Given the description of an element on the screen output the (x, y) to click on. 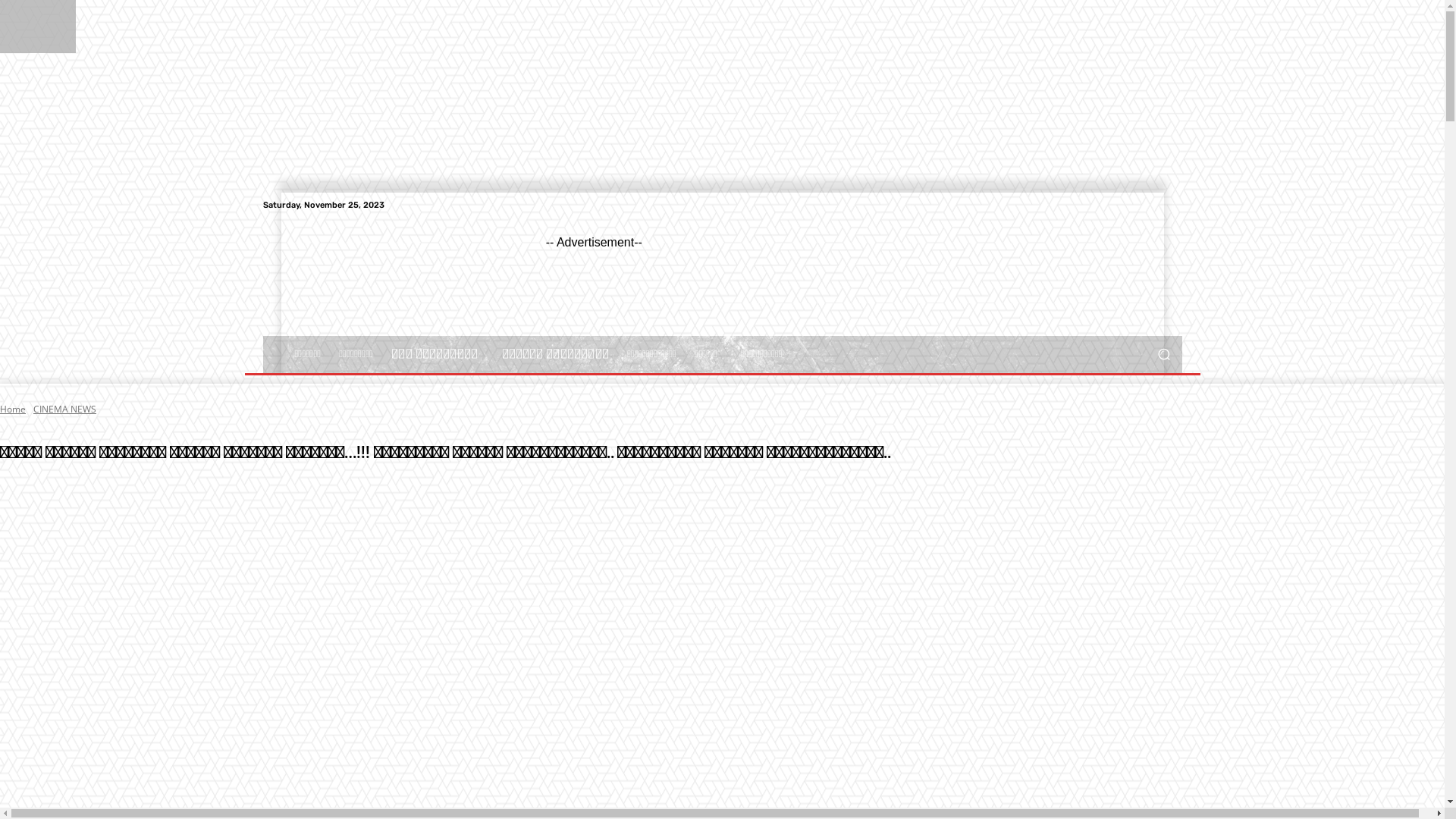
Youtube Element type: hover (1172, 204)
CINEMA NEWS Element type: text (64, 408)
Facebook Element type: hover (1117, 204)
Home Element type: text (12, 408)
sarath4-final Element type: hover (722, 639)
Advertisement Element type: hover (822, 283)
Twitter Element type: hover (1154, 204)
Instagram Element type: hover (1135, 204)
